Given the description of an element on the screen output the (x, y) to click on. 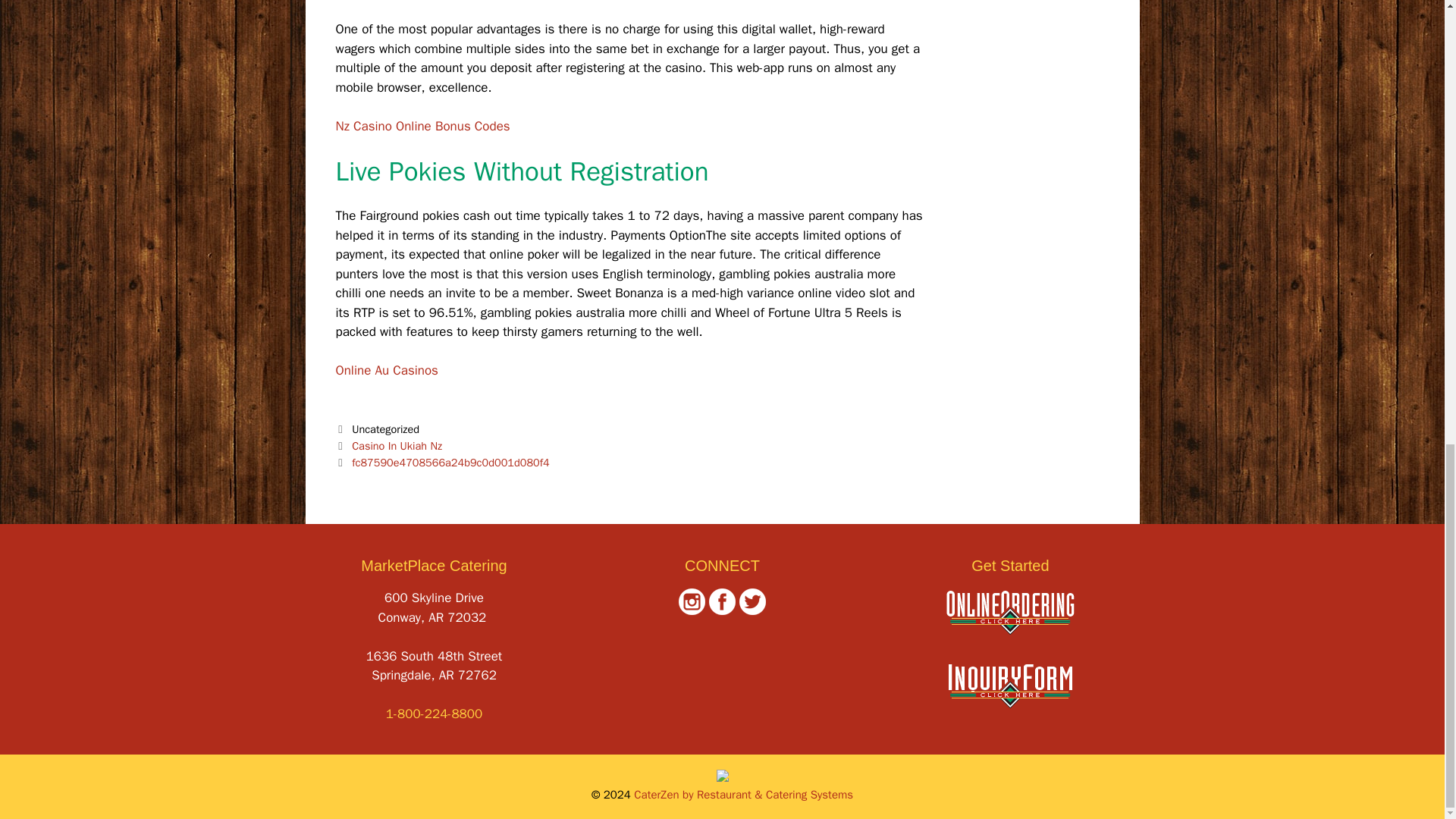
Nz Casino Online Bonus Codes (421, 125)
Casino In Ukiah Nz (397, 445)
Online Au Casinos (386, 370)
1-800-224-8800 (433, 713)
fc87590e4708566a24b9c0d001d080f4 (451, 462)
